Given the description of an element on the screen output the (x, y) to click on. 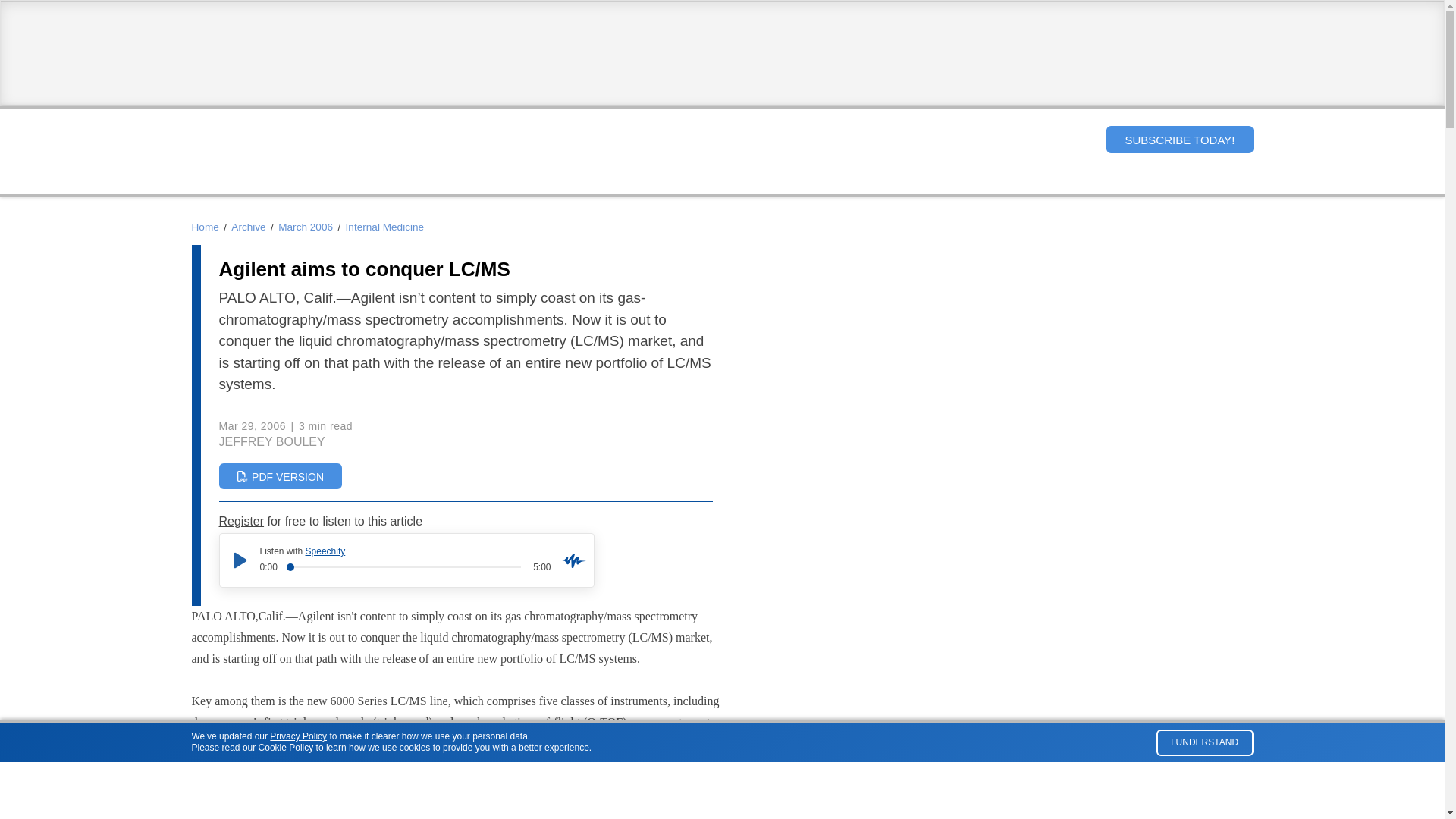
SUBSCRIBE TODAY! (1179, 139)
DISEASE FOCUS (665, 179)
Search (1081, 139)
